Given the description of an element on the screen output the (x, y) to click on. 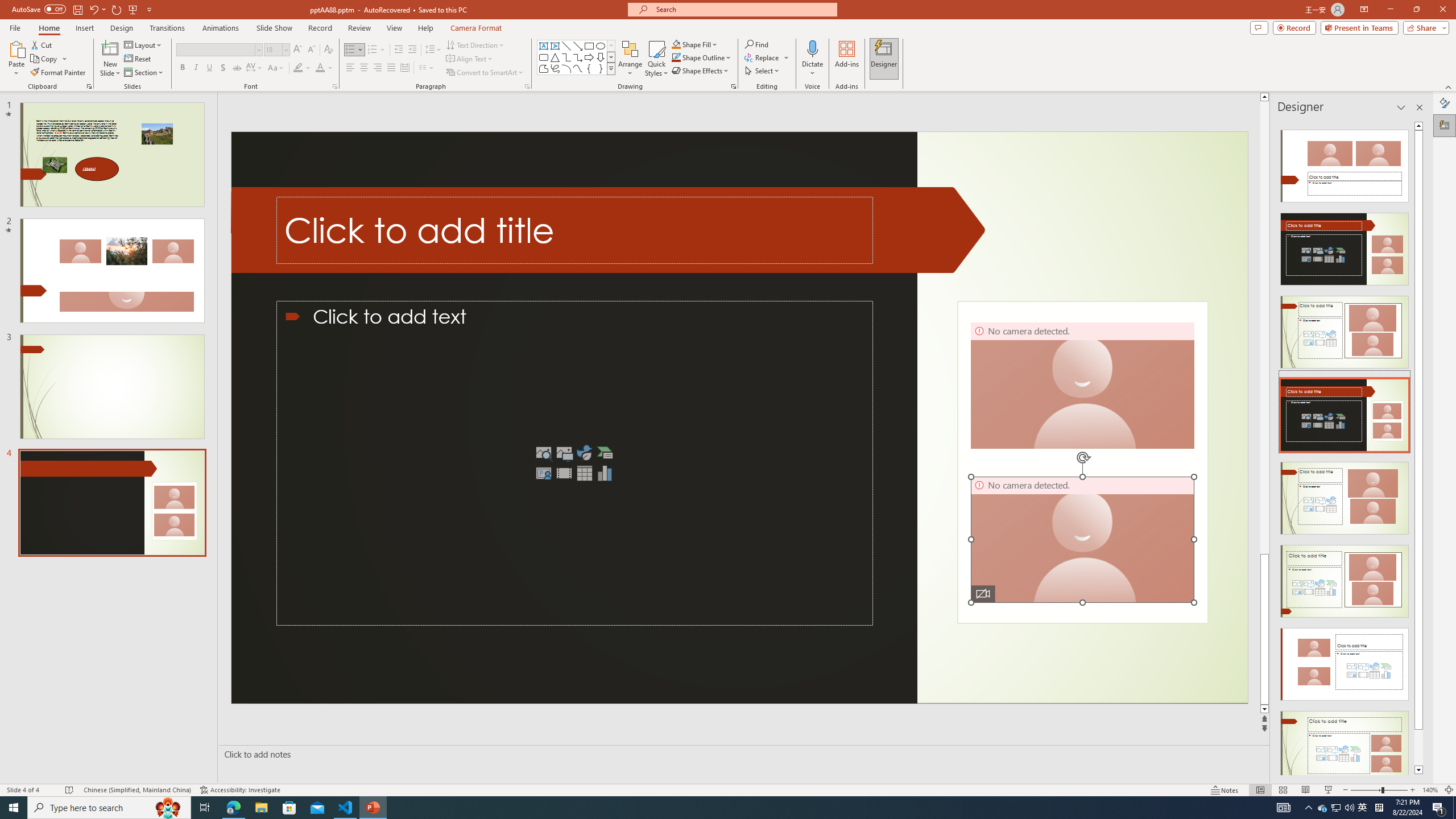
Left Brace (589, 68)
Copy (49, 58)
Vertical Text Box (554, 45)
Line up (1264, 96)
Insert a SmartArt Graphic (604, 452)
Align Right (377, 67)
Office Clipboard... (88, 85)
Layout (143, 44)
Font (215, 49)
